Given the description of an element on the screen output the (x, y) to click on. 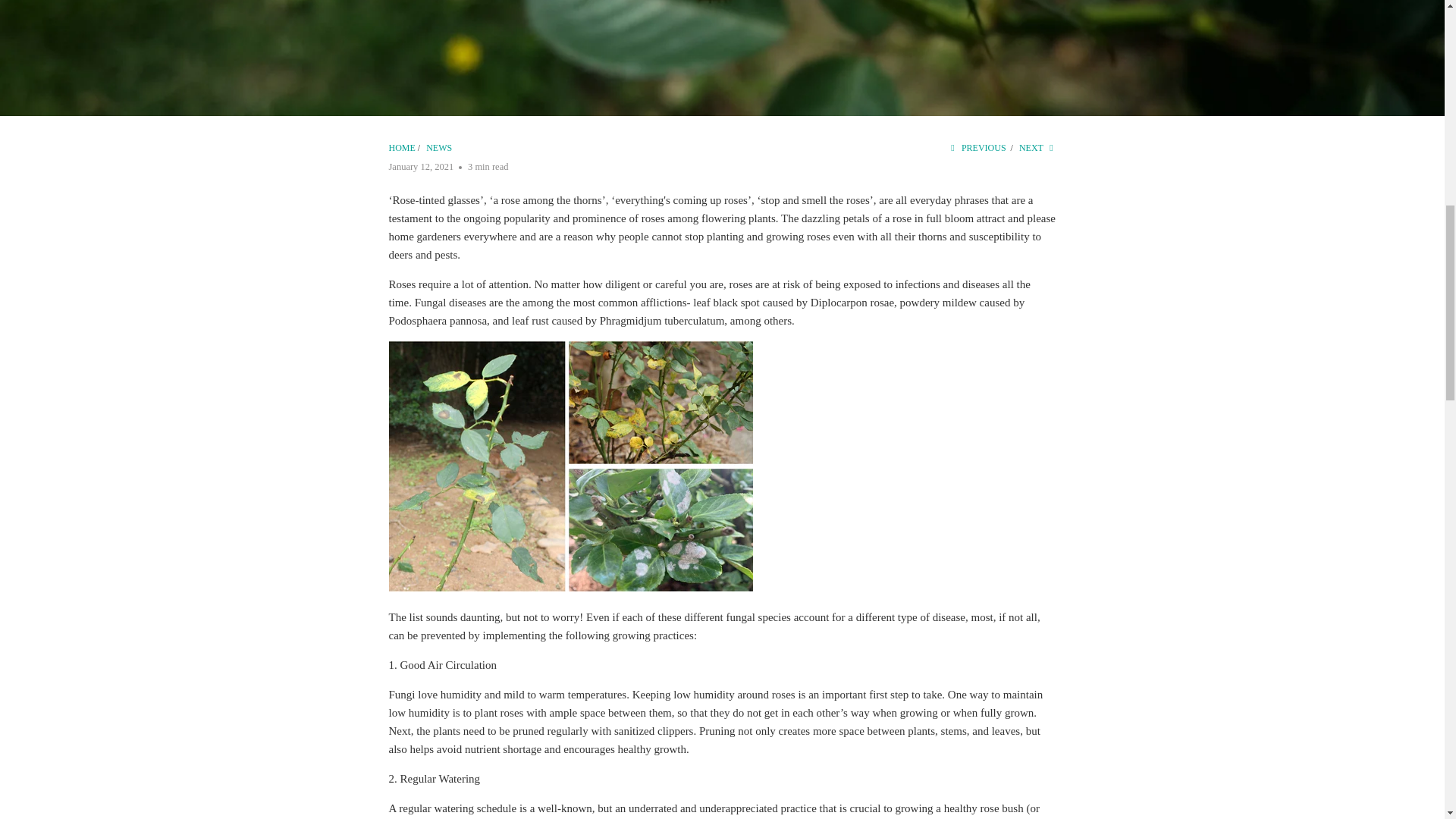
News (438, 147)
HOME (401, 147)
Microbial Applications, Inc (401, 147)
